Given the description of an element on the screen output the (x, y) to click on. 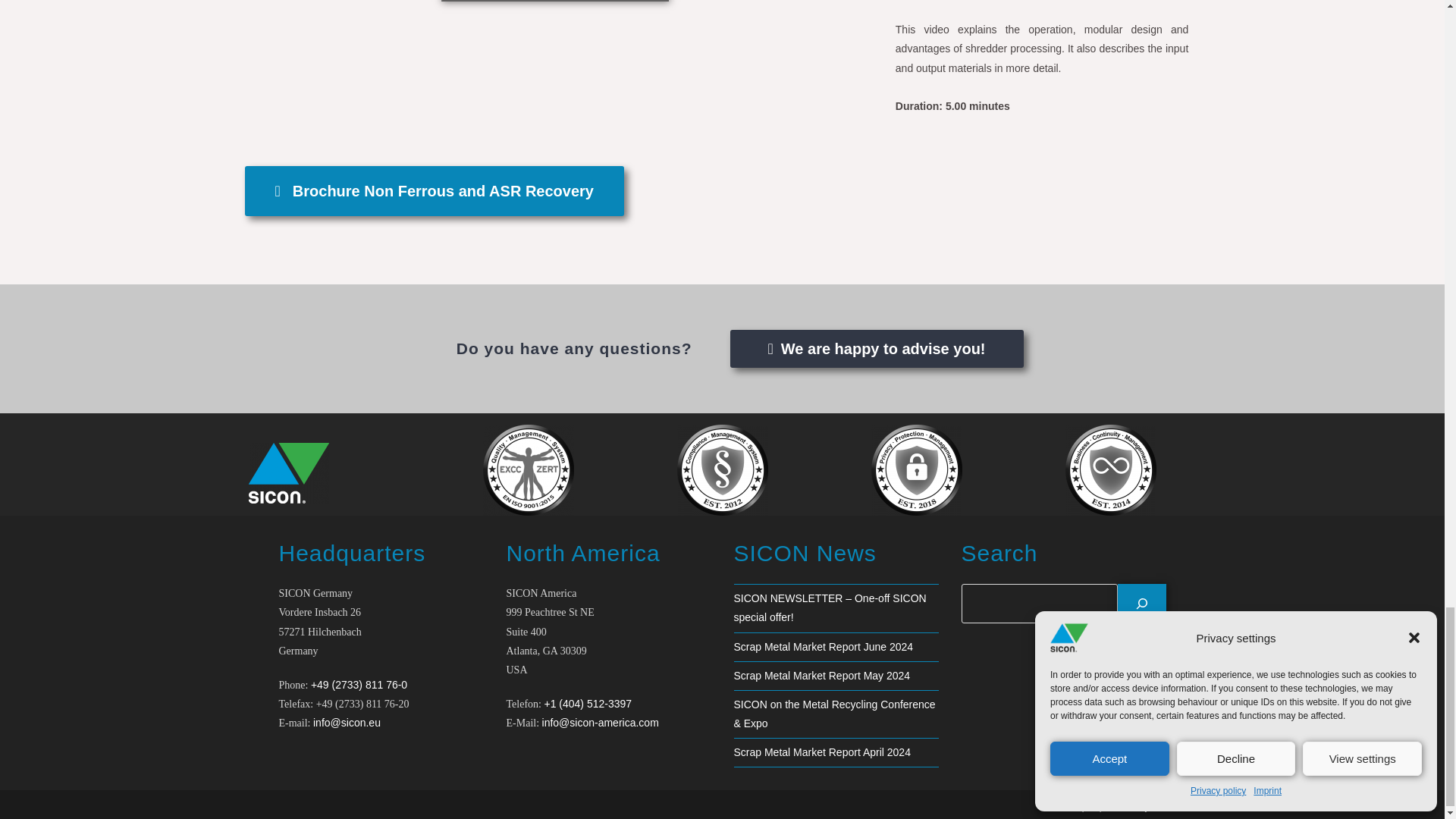
SICON CMS Management (722, 470)
SICON PPM Management (915, 470)
SICON BCM Management (1110, 470)
SICON QMS Management (527, 470)
SICON-LOGO-w (288, 473)
